Given the description of an element on the screen output the (x, y) to click on. 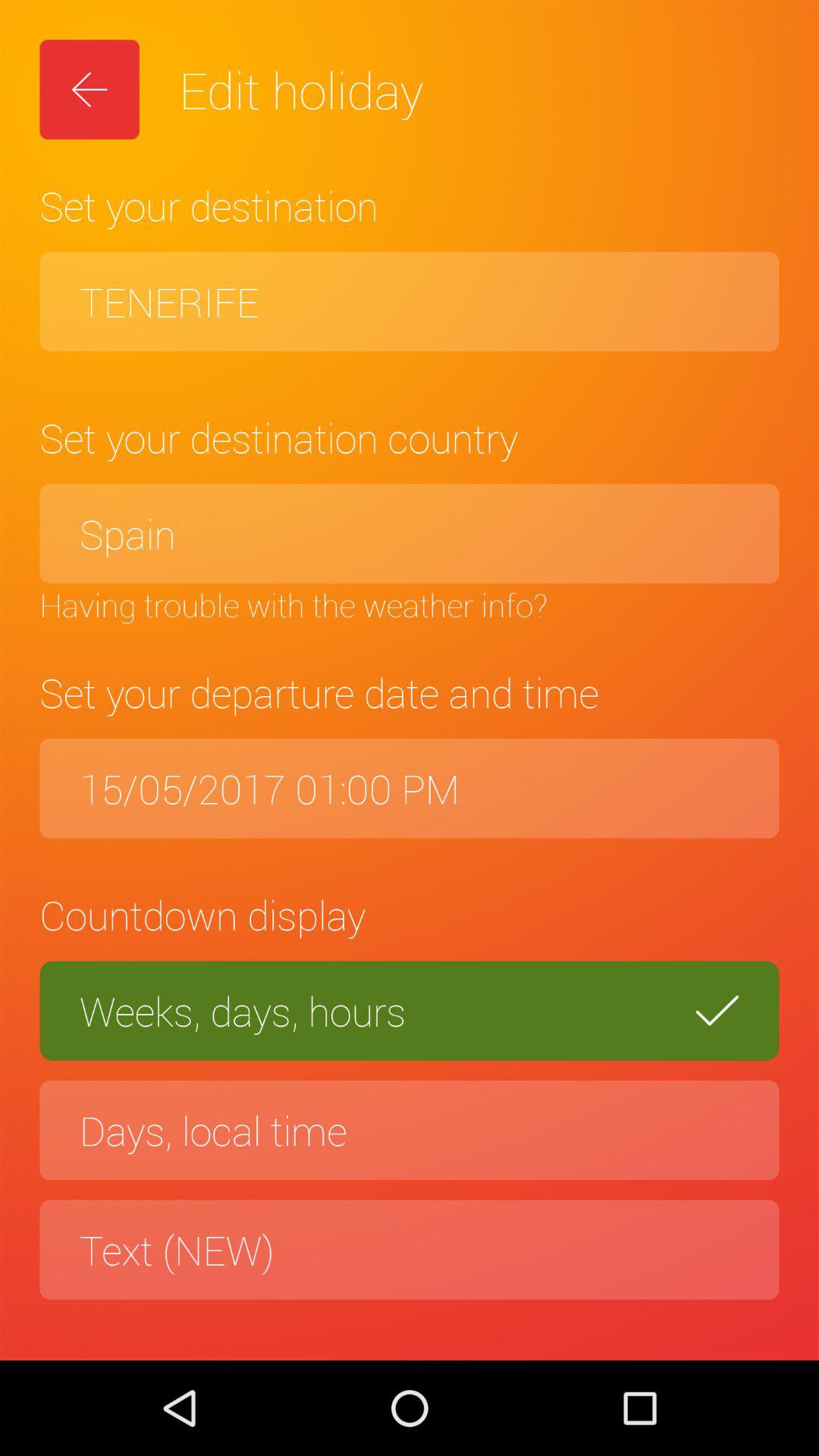
turn on the icon above having trouble with icon (409, 533)
